Given the description of an element on the screen output the (x, y) to click on. 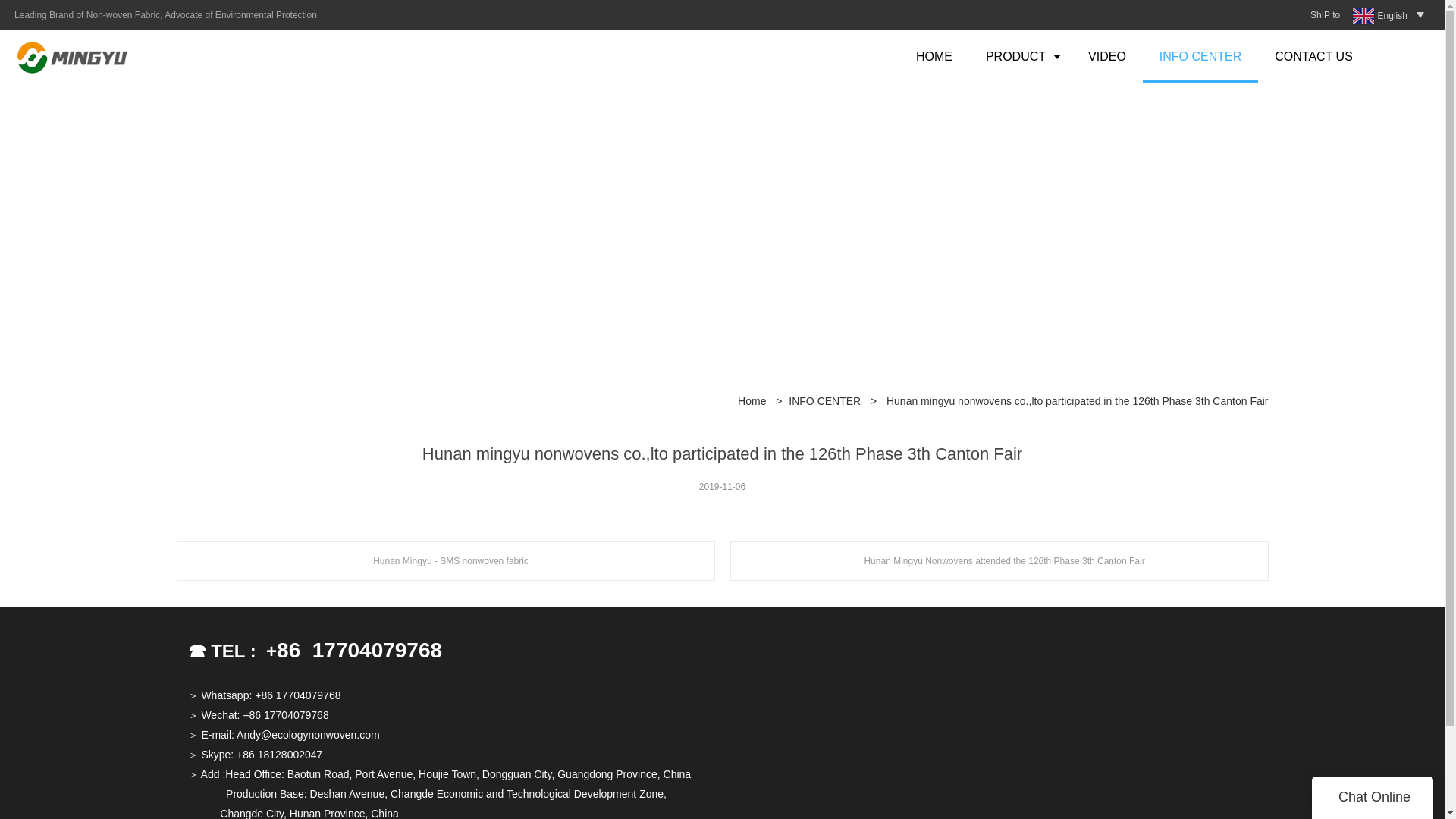
HOME (934, 56)
INFO CENTER (824, 404)
CONTACT US (1313, 56)
INFO CENTER (1199, 56)
PRODUCT (1020, 56)
Home (751, 404)
Hunan Mingyu - SMS nonwoven fabric (445, 560)
VIDEO (1106, 56)
Hunan Mingyu - SMS nonwoven fabric (445, 560)
